Given the description of an element on the screen output the (x, y) to click on. 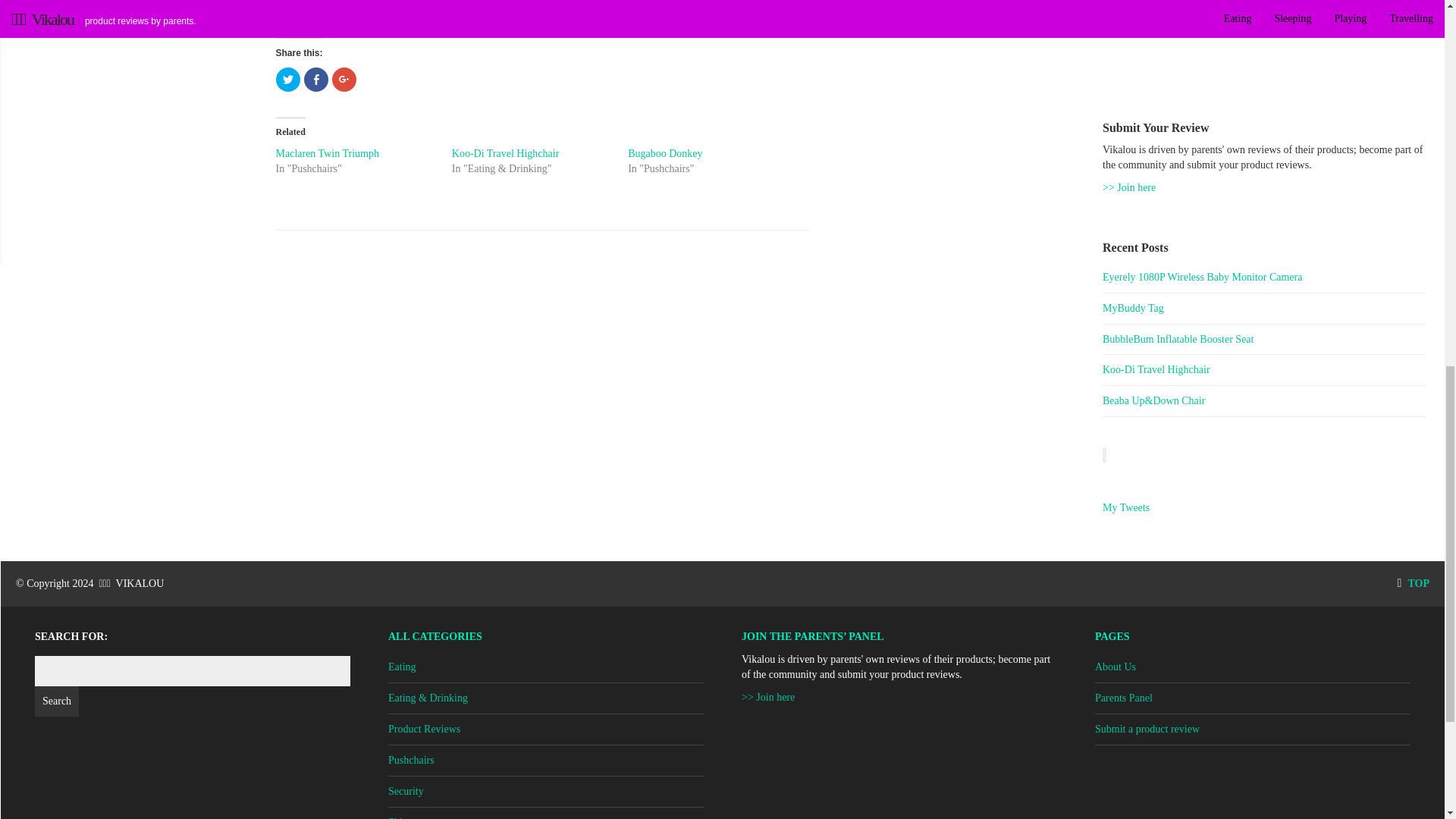
Search (56, 701)
Advertisement (1263, 38)
Eyerely 1080P Wireless Baby Monitor Camera (1263, 277)
MyBuddy Tag (1263, 308)
Koo-Di Travel Highchair (1263, 369)
Maclaren Twin Triumph (327, 153)
Koo-Di Travel Highchair (505, 153)
BUY ON AMAZON (541, 11)
Click to share on Facebook (314, 79)
Click to share on Twitter (287, 79)
Bugaboo Donkey (664, 153)
BubbleBum Inflatable Booster Seat (1263, 339)
